Given the description of an element on the screen output the (x, y) to click on. 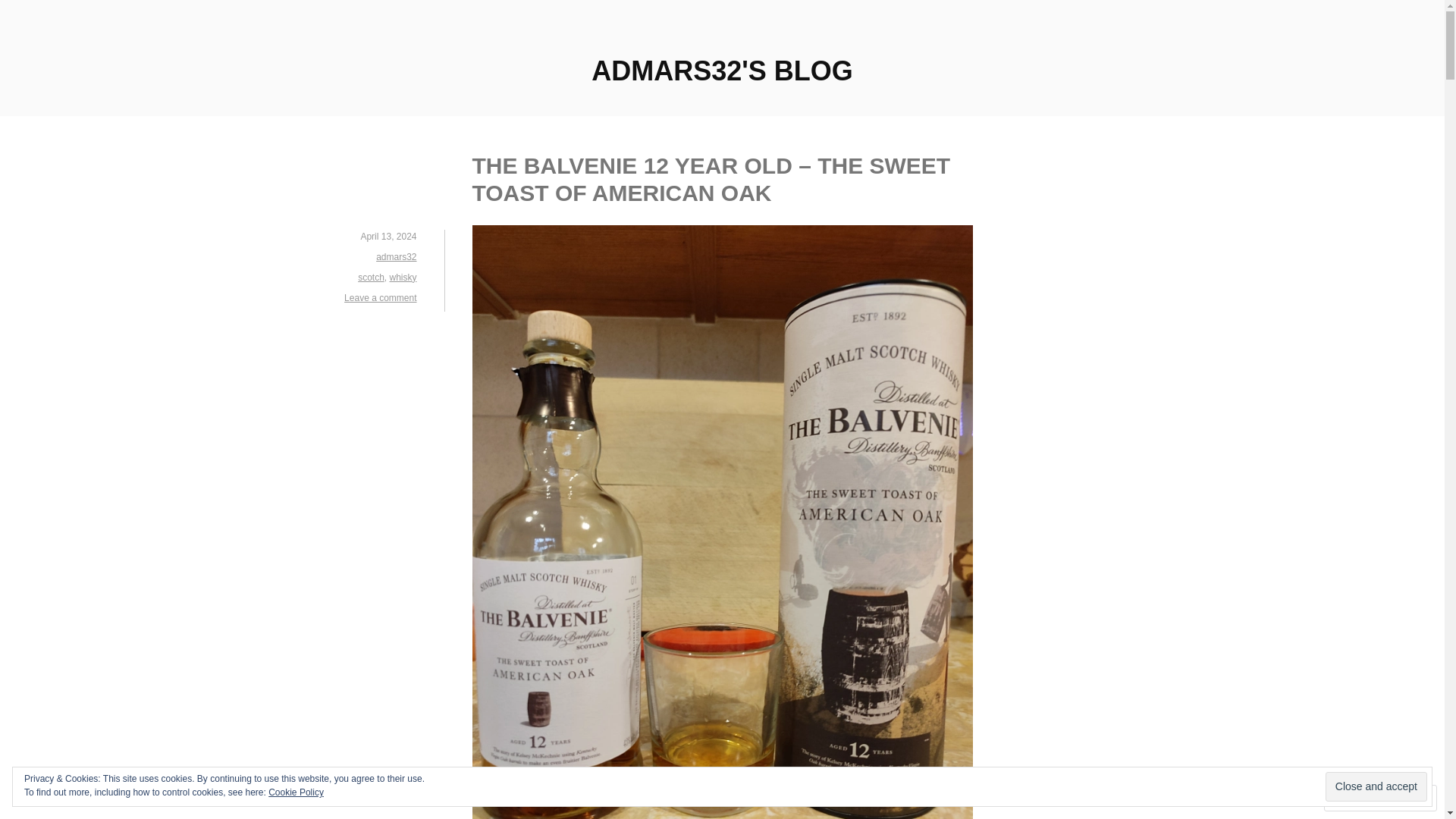
Close and accept (1375, 786)
scotch (371, 276)
admars32 (395, 256)
whisky (402, 276)
ADMARS32'S BLOG (722, 70)
Leave a comment (379, 297)
April 13, 2024 (387, 235)
